Given the description of an element on the screen output the (x, y) to click on. 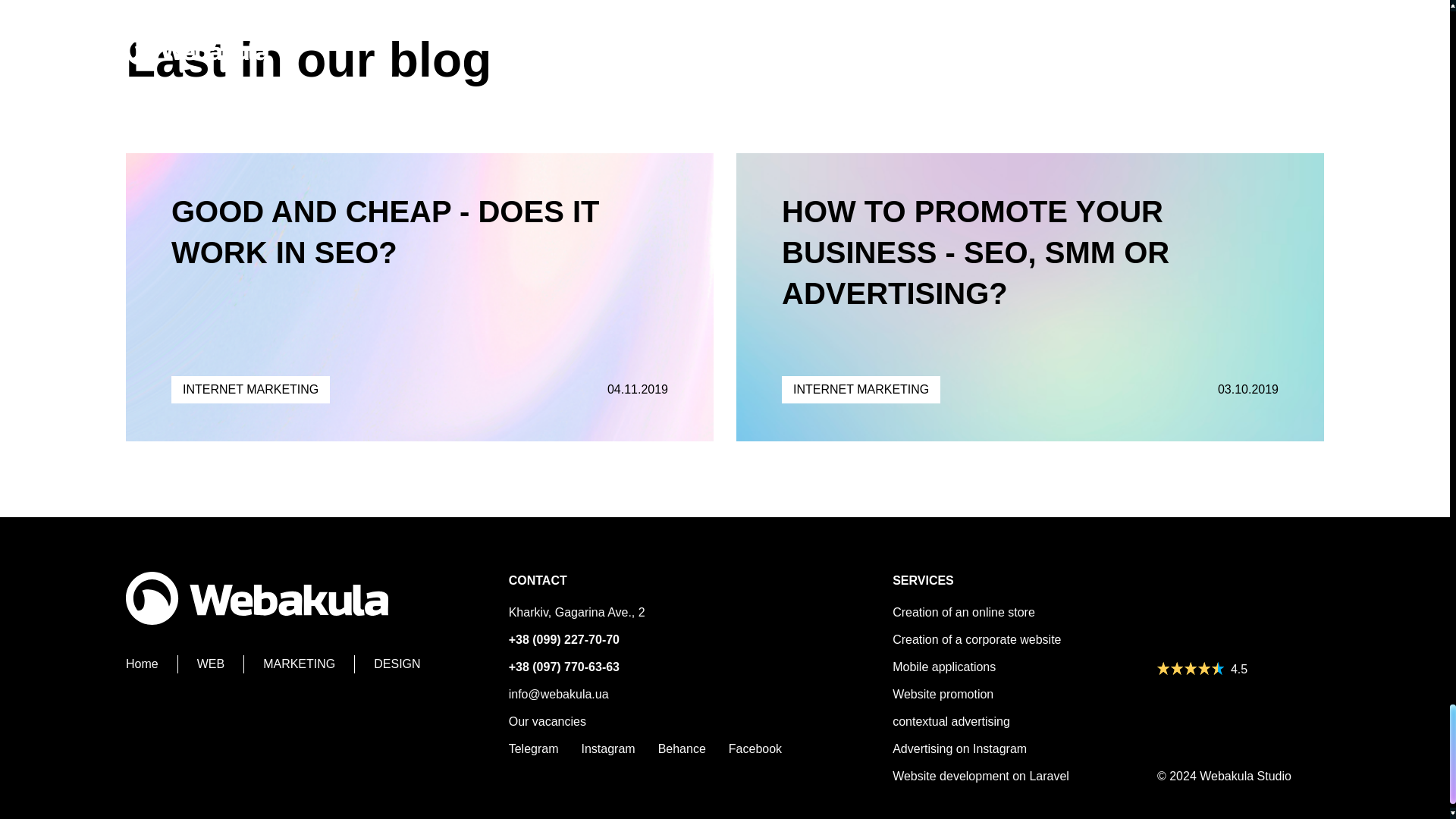
MARKETING (309, 664)
WEB (220, 664)
HOW TO PROMOTE YOUR BUSINESS - SEO, SMM OR ADVERTISING? (975, 252)
GOOD AND CHEAP - DOES IT WORK IN SEO? (385, 231)
Home (151, 664)
